Given the description of an element on the screen output the (x, y) to click on. 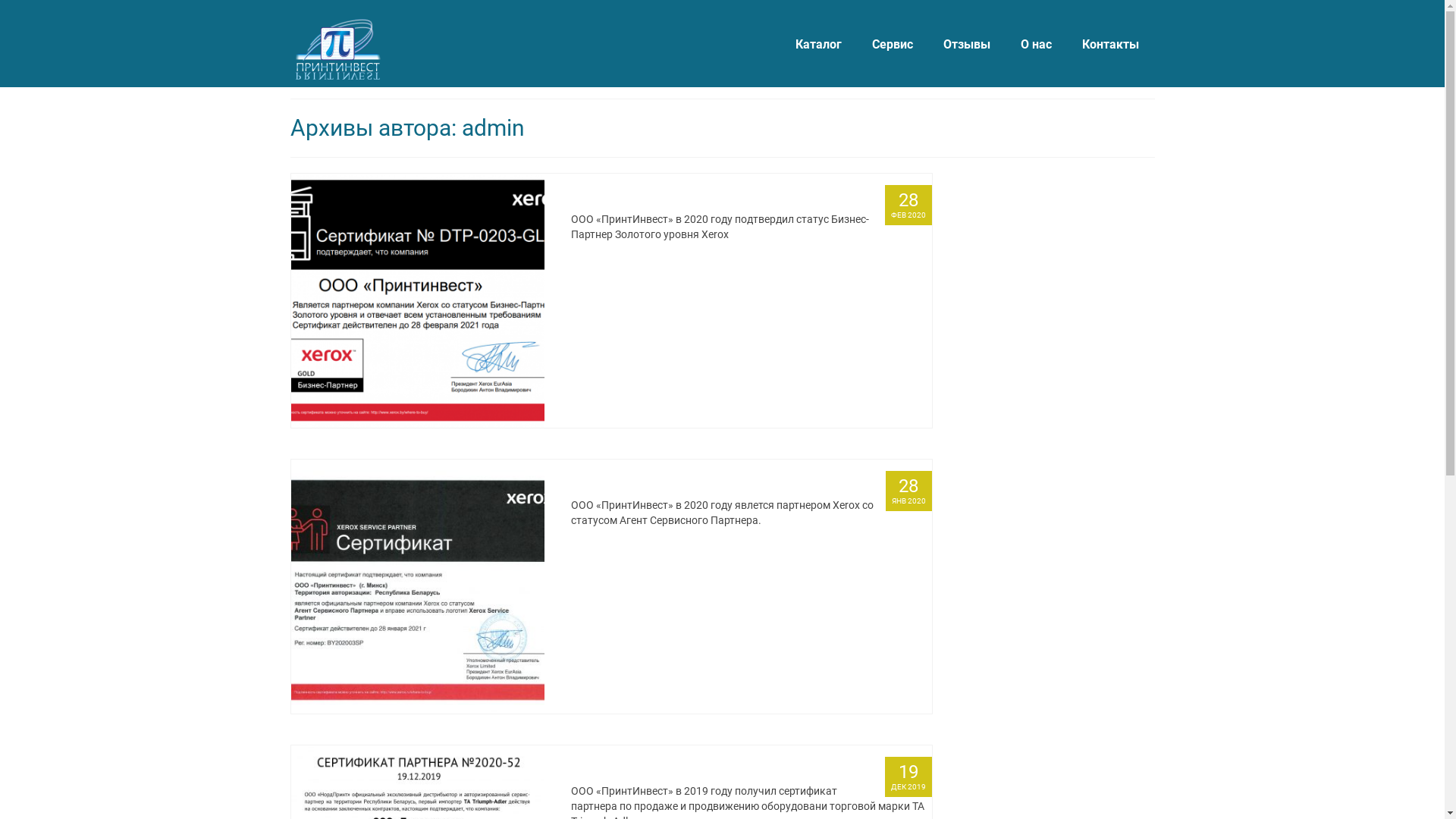
admin Element type: text (604, 195)
admin Element type: text (604, 481)
admin Element type: text (604, 767)
